Given the description of an element on the screen output the (x, y) to click on. 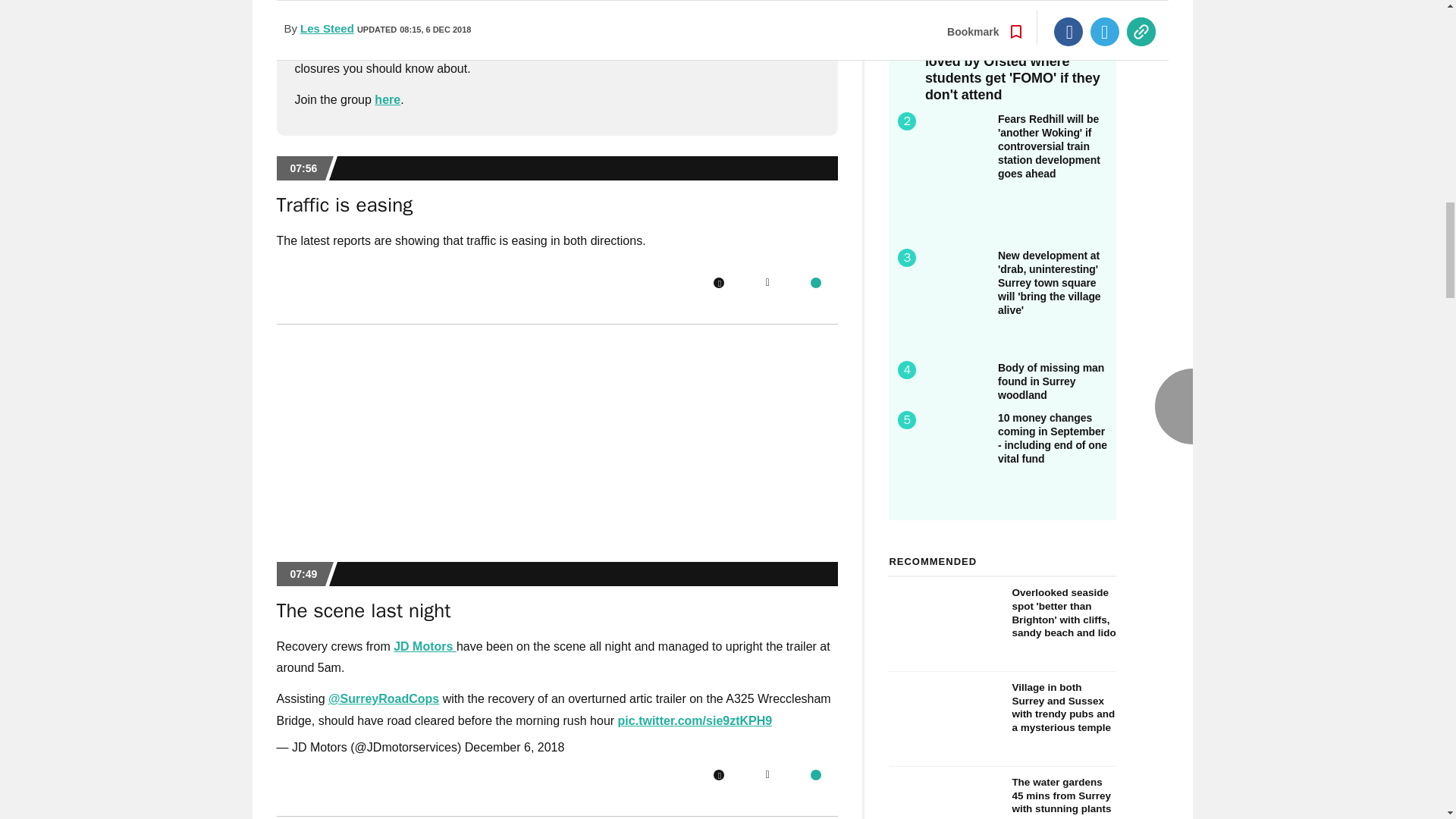
Twitter (767, 282)
Twitter (767, 774)
Facebook (718, 282)
Facebook (718, 774)
